Given the description of an element on the screen output the (x, y) to click on. 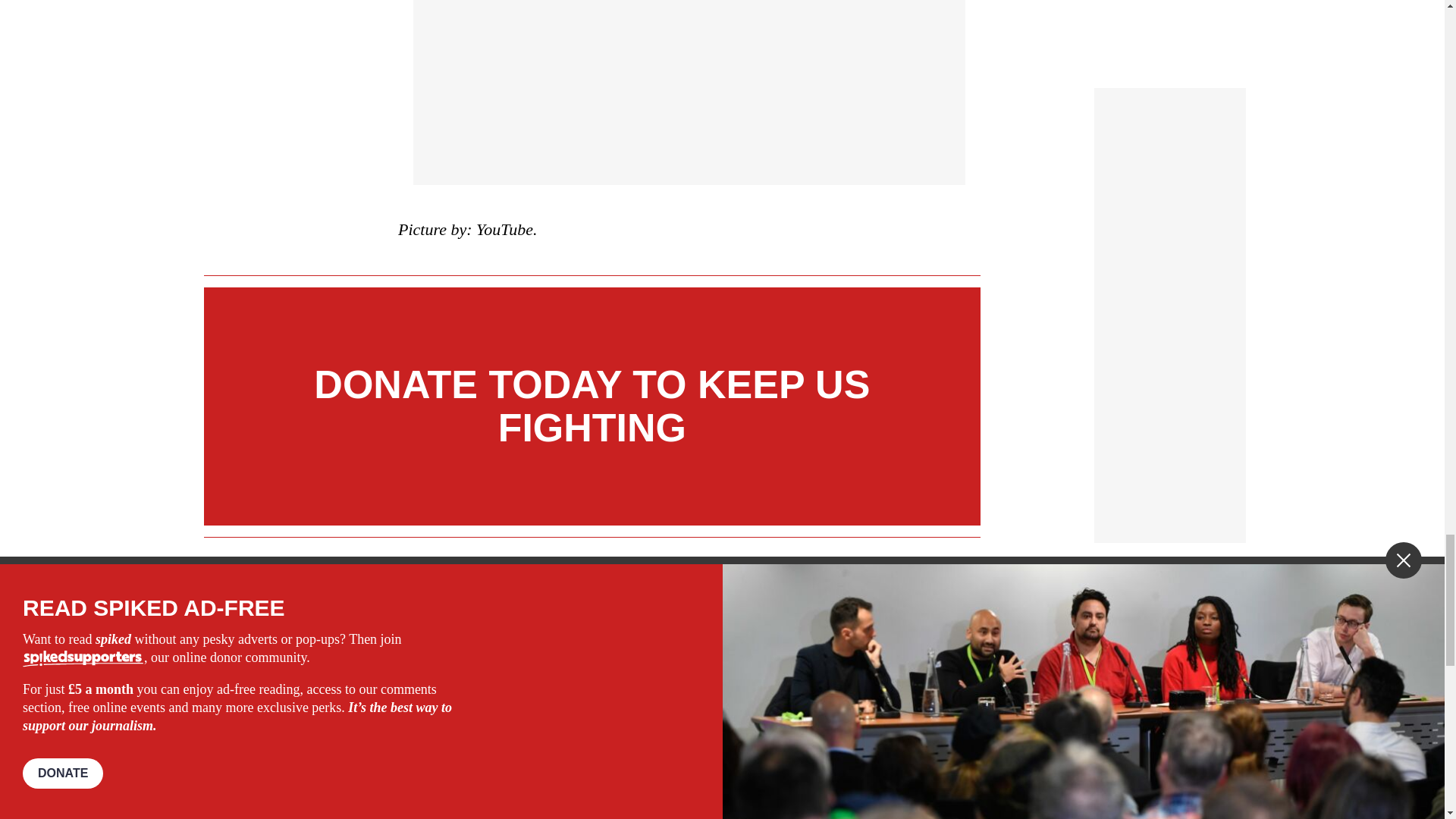
Share on Whatsapp (494, 667)
Share on Twitter (471, 667)
Share on Email (518, 667)
Share on Facebook (448, 667)
